Given the description of an element on the screen output the (x, y) to click on. 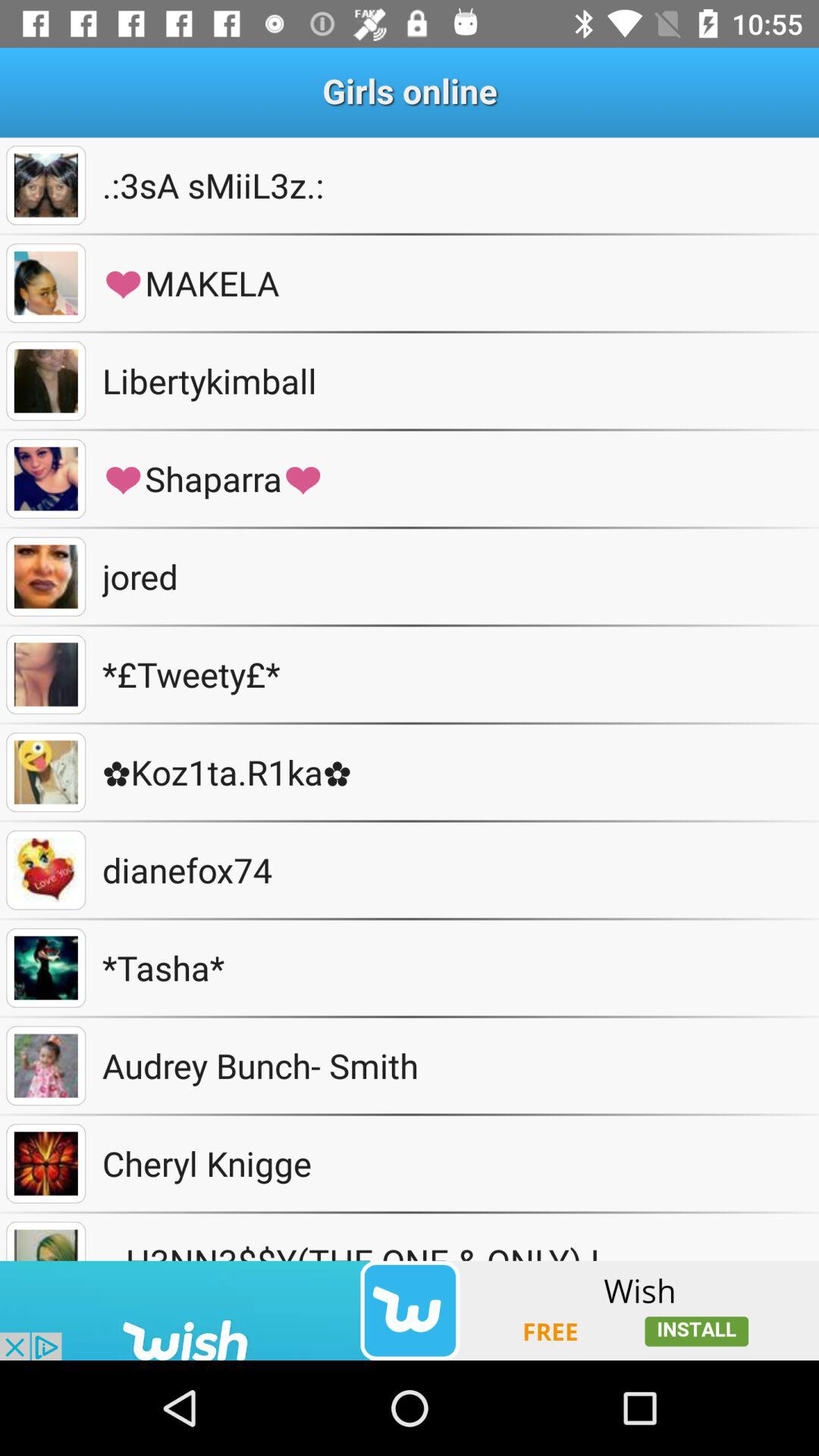
whats select (45, 478)
